Given the description of an element on the screen output the (x, y) to click on. 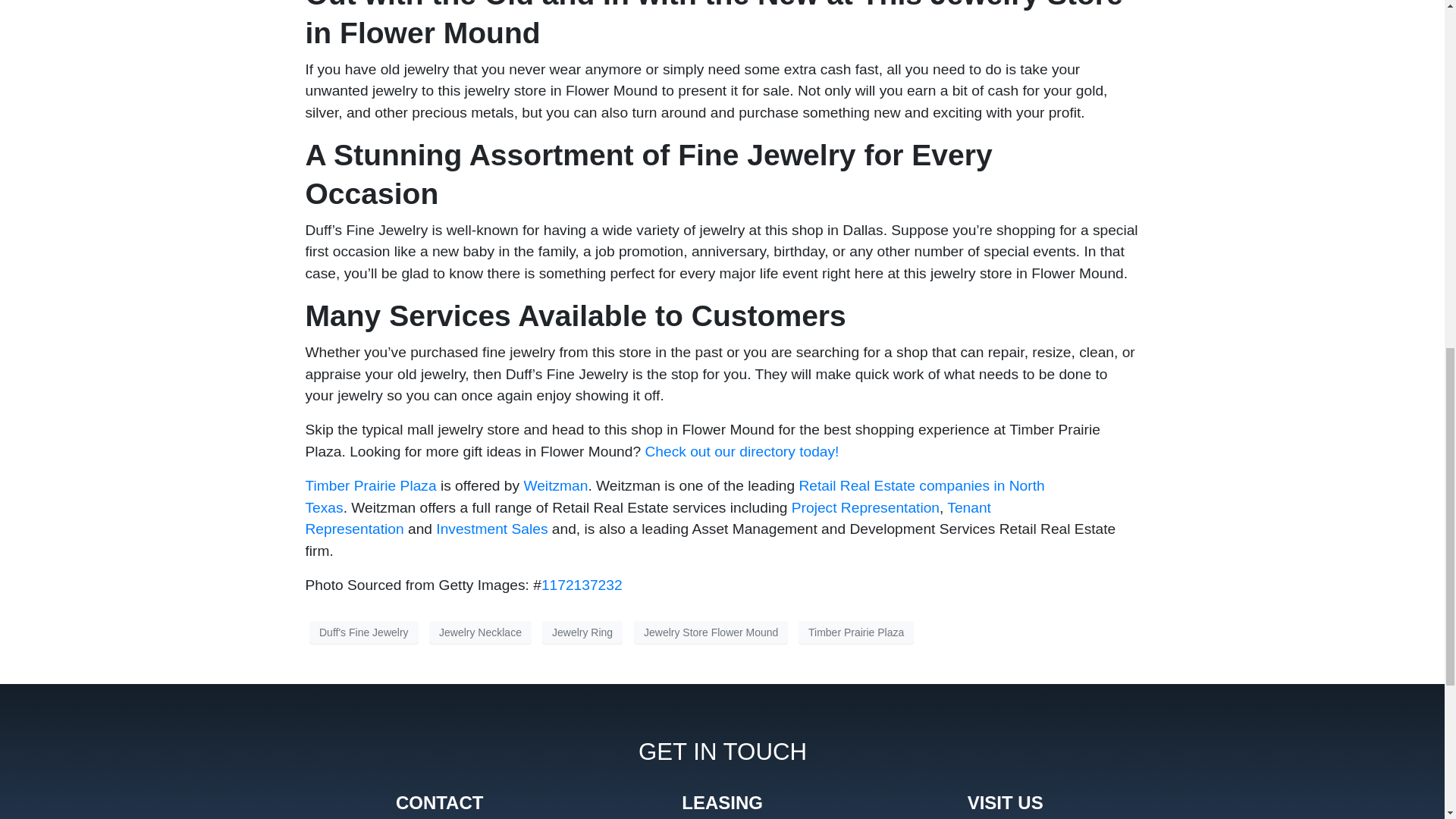
Timber Prairie Plaza (855, 631)
Project Representation (865, 506)
Duff's Fine Jewelry (363, 631)
Check out our directory today! (741, 451)
Tenant Representation (647, 517)
Investment Sales (491, 528)
Jewelry Store Flower Mound (710, 631)
1172137232 (582, 584)
Jewelry Ring (582, 631)
Retail Real Estate companies in North Texas (673, 496)
Timber Prairie Plaza (369, 485)
Weitzman (555, 485)
Jewelry Necklace (480, 631)
